Given the description of an element on the screen output the (x, y) to click on. 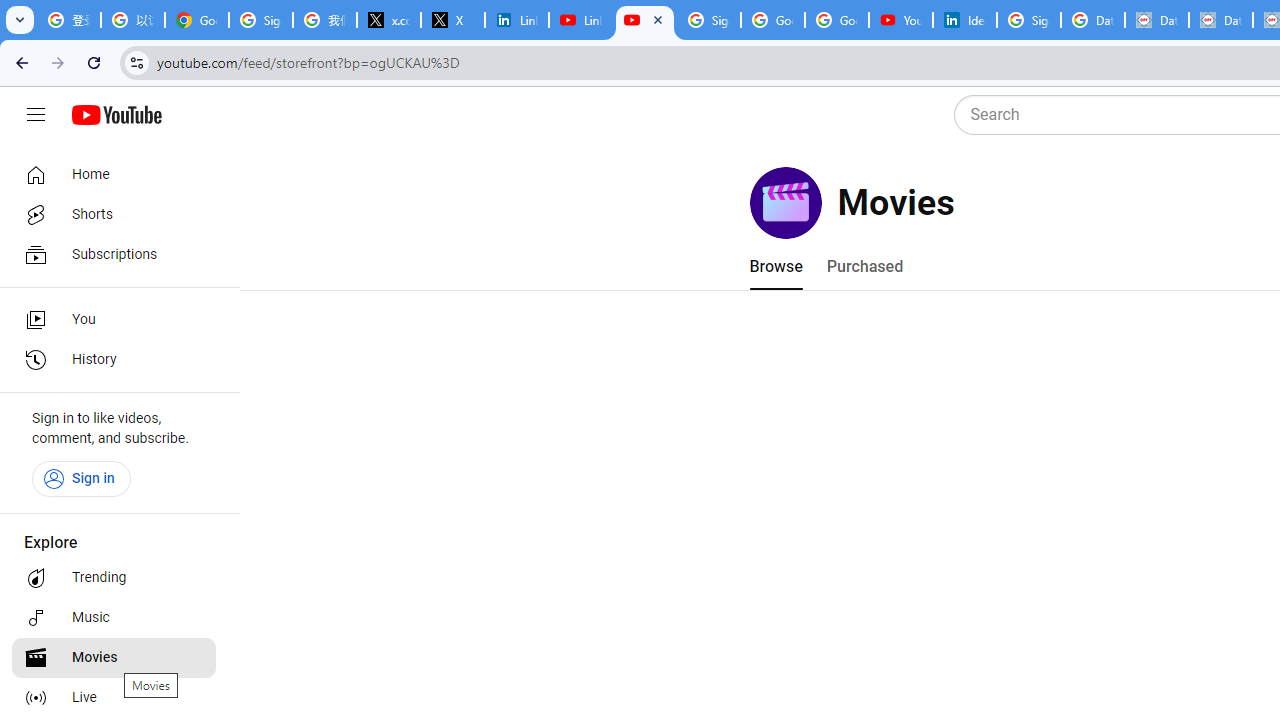
Sign in - Google Accounts (261, 20)
LinkedIn Privacy Policy (517, 20)
Music (113, 617)
LinkedIn - YouTube (581, 20)
Live (113, 697)
Shorts (113, 214)
YouTube Home (116, 115)
Sign in - Google Accounts (1029, 20)
